Given the description of an element on the screen output the (x, y) to click on. 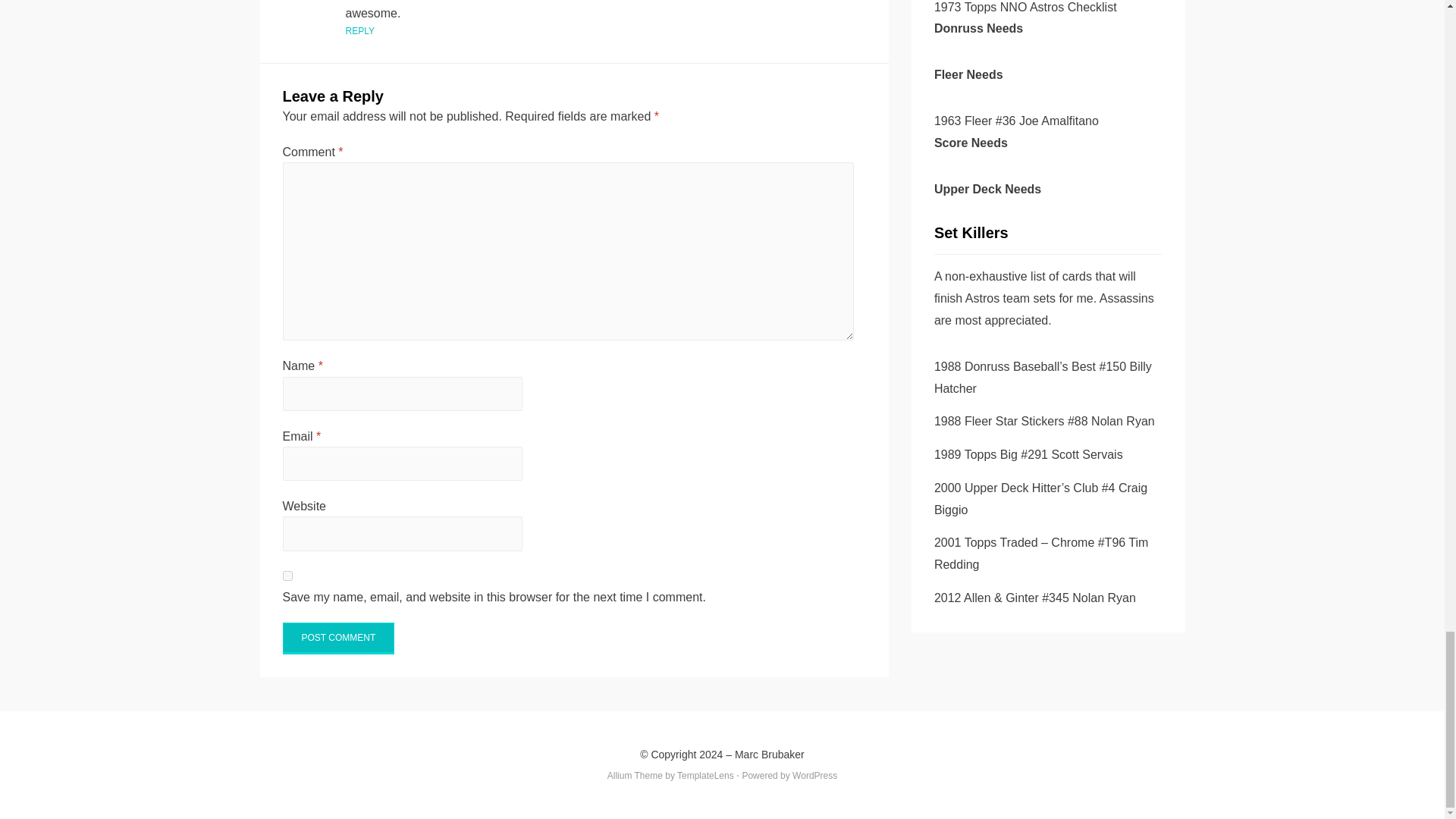
TemplateLens (705, 775)
WordPress (814, 775)
Post Comment (338, 638)
yes (287, 575)
REPLY (360, 30)
